Given the description of an element on the screen output the (x, y) to click on. 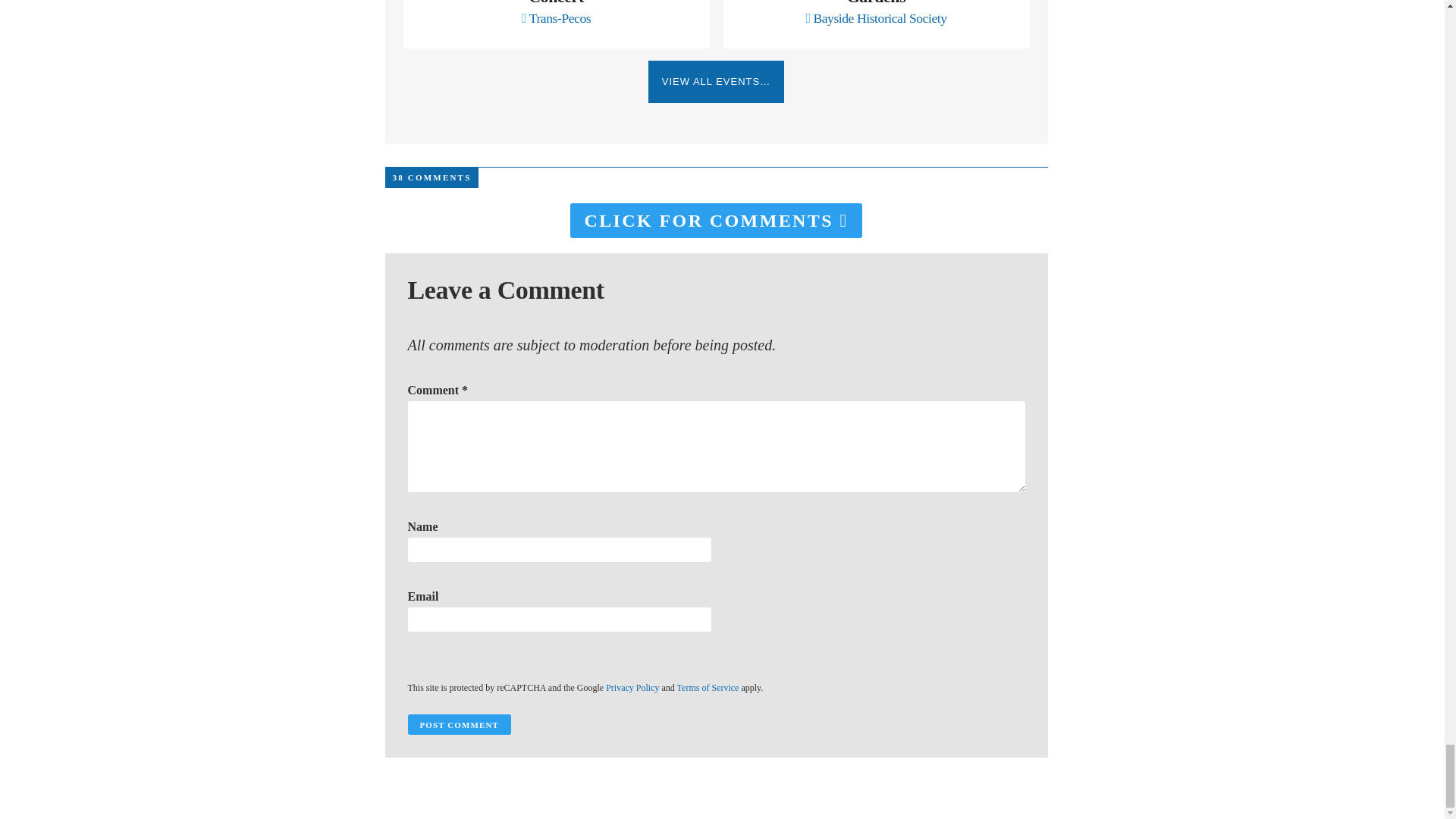
Post Comment (459, 724)
